Given the description of an element on the screen output the (x, y) to click on. 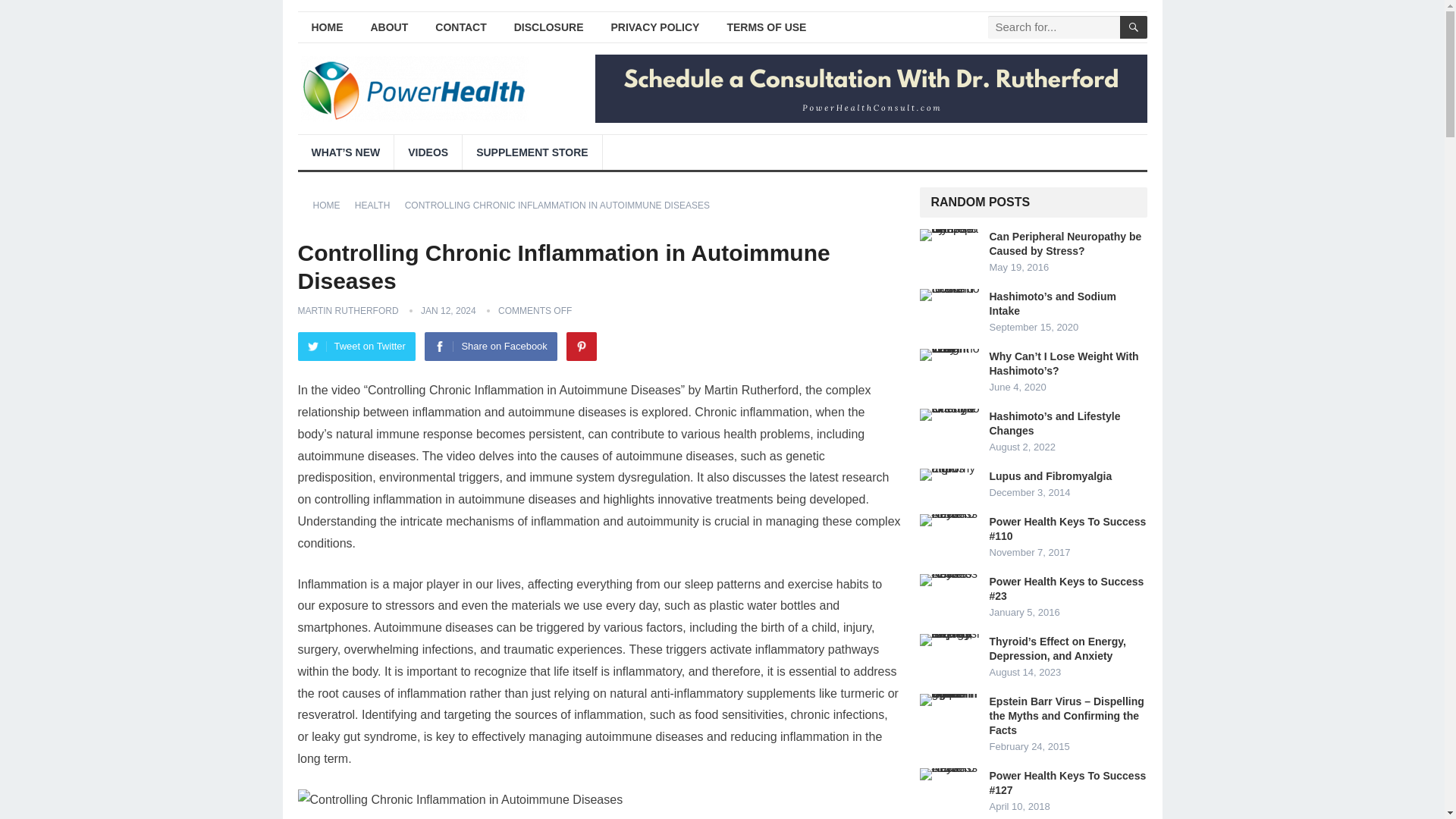
Posts by Martin Rutherford (347, 310)
Pinterest (581, 346)
HEALTH (377, 204)
CONTACT (460, 27)
HOME (331, 204)
Why Can't I Lose Weight With Hashimoto's? 15 (948, 354)
SUPPLEMENT STORE (532, 152)
Can Peripheral Neuropathy be Caused by Stress? 13 (948, 234)
Controlling Chronic Inflammation in Autoimmune Diseases (460, 800)
DISCLOSURE (548, 27)
